Given the description of an element on the screen output the (x, y) to click on. 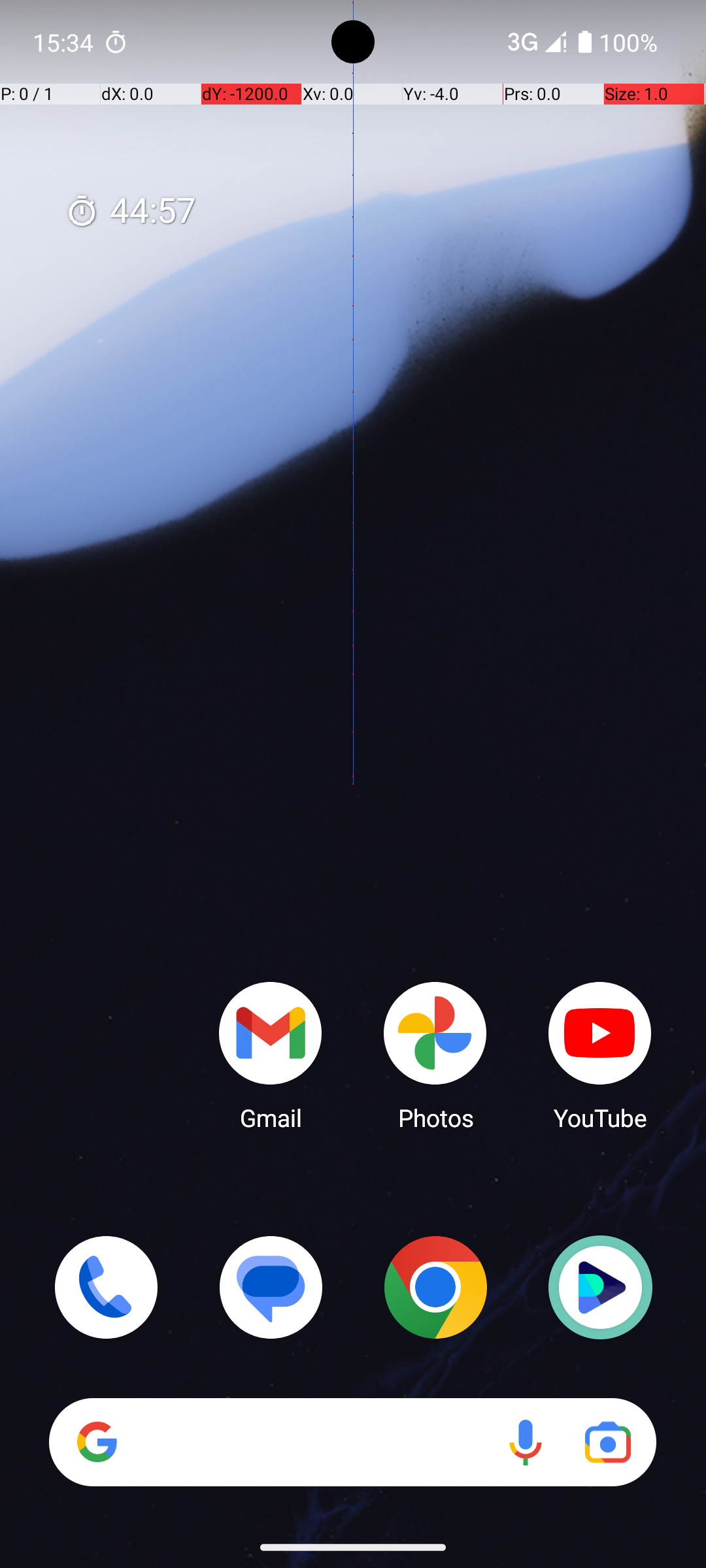
Home Element type: android.view.View (353, 804)
Phone Element type: android.widget.TextView (105, 1287)
Messages Element type: android.widget.TextView (270, 1287)
Chrome Element type: android.widget.TextView (435, 1287)
Retro Music Element type: android.widget.TextView (599, 1287)
Search Element type: android.widget.FrameLayout (352, 1442)
44:57 Element type: android.widget.TextView (130, 210)
Gmail Element type: android.widget.TextView (270, 1054)
Photos Element type: android.widget.TextView (435, 1054)
YouTube Element type: android.widget.TextView (599, 1054)
Google app Element type: android.widget.ImageView (97, 1441)
Voice search Element type: android.widget.ImageView (525, 1442)
Google Lens Element type: android.widget.ImageButton (607, 1442)
